Given the description of an element on the screen output the (x, y) to click on. 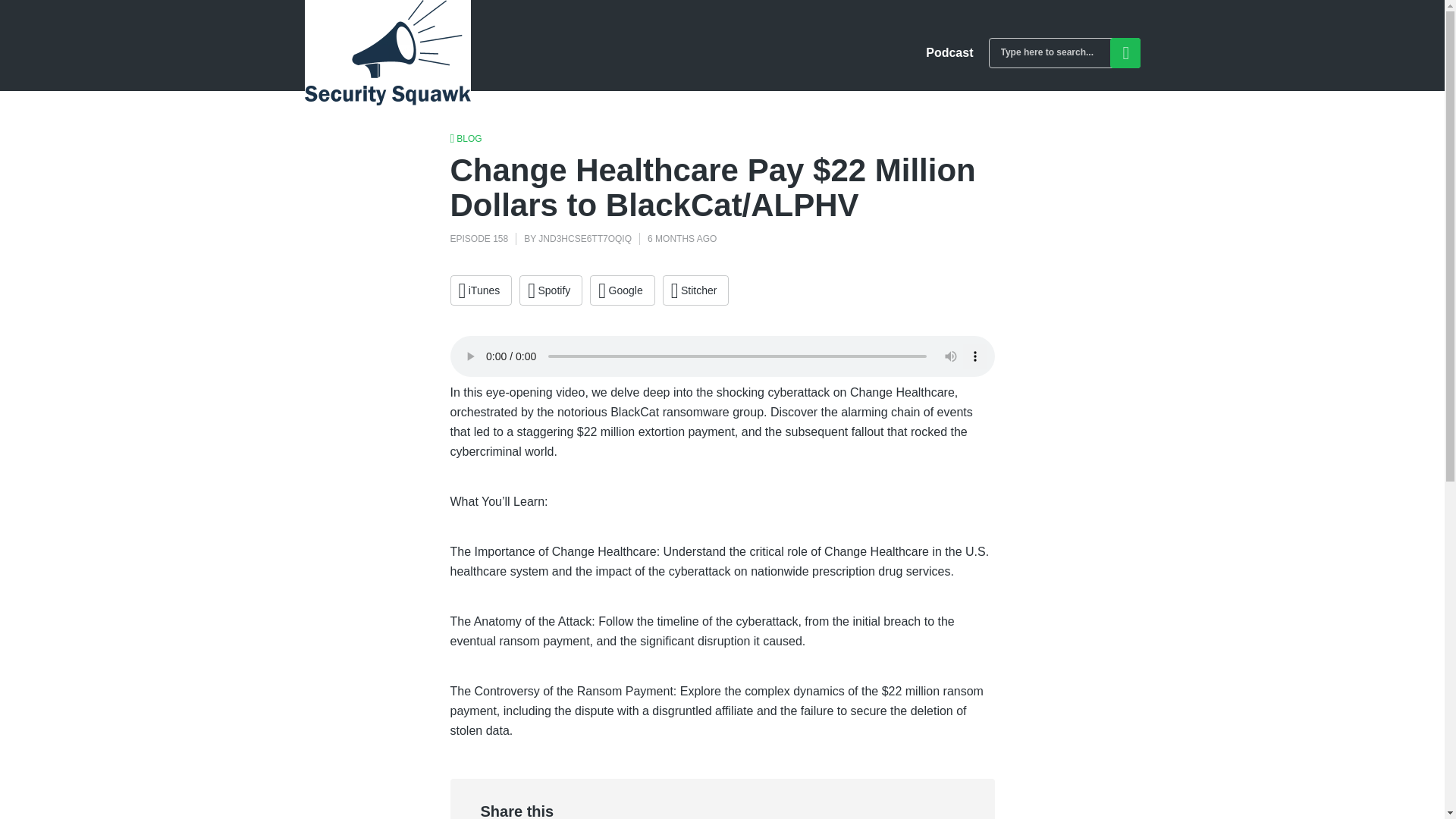
Podcast (949, 52)
JND3HCSE6TT7OQIQ (584, 238)
iTunes (480, 290)
Spotify (550, 290)
SEARCH (1124, 52)
BLOG (465, 138)
Google (621, 290)
Stitcher (695, 290)
